Given the description of an element on the screen output the (x, y) to click on. 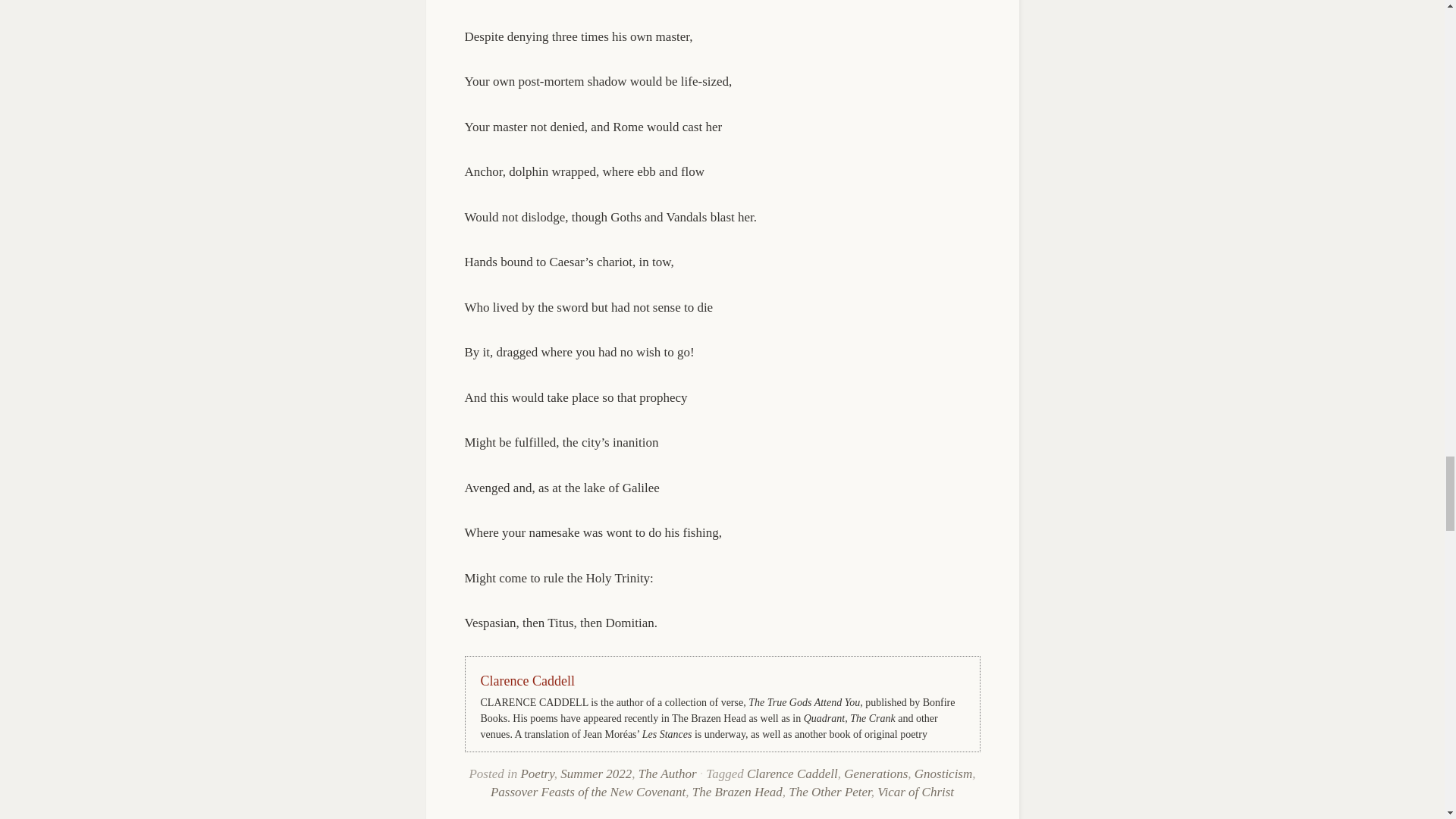
Poetry (536, 773)
The Author (668, 773)
Generations (875, 773)
Clarence Caddell (527, 680)
Clarence Caddell (792, 773)
Summer 2022 (595, 773)
Gnosticism (943, 773)
The Brazen Head (738, 791)
The Other Peter (829, 791)
Vicar of Christ (915, 791)
Passover Feasts of the New Covenant (587, 791)
